Given the description of an element on the screen output the (x, y) to click on. 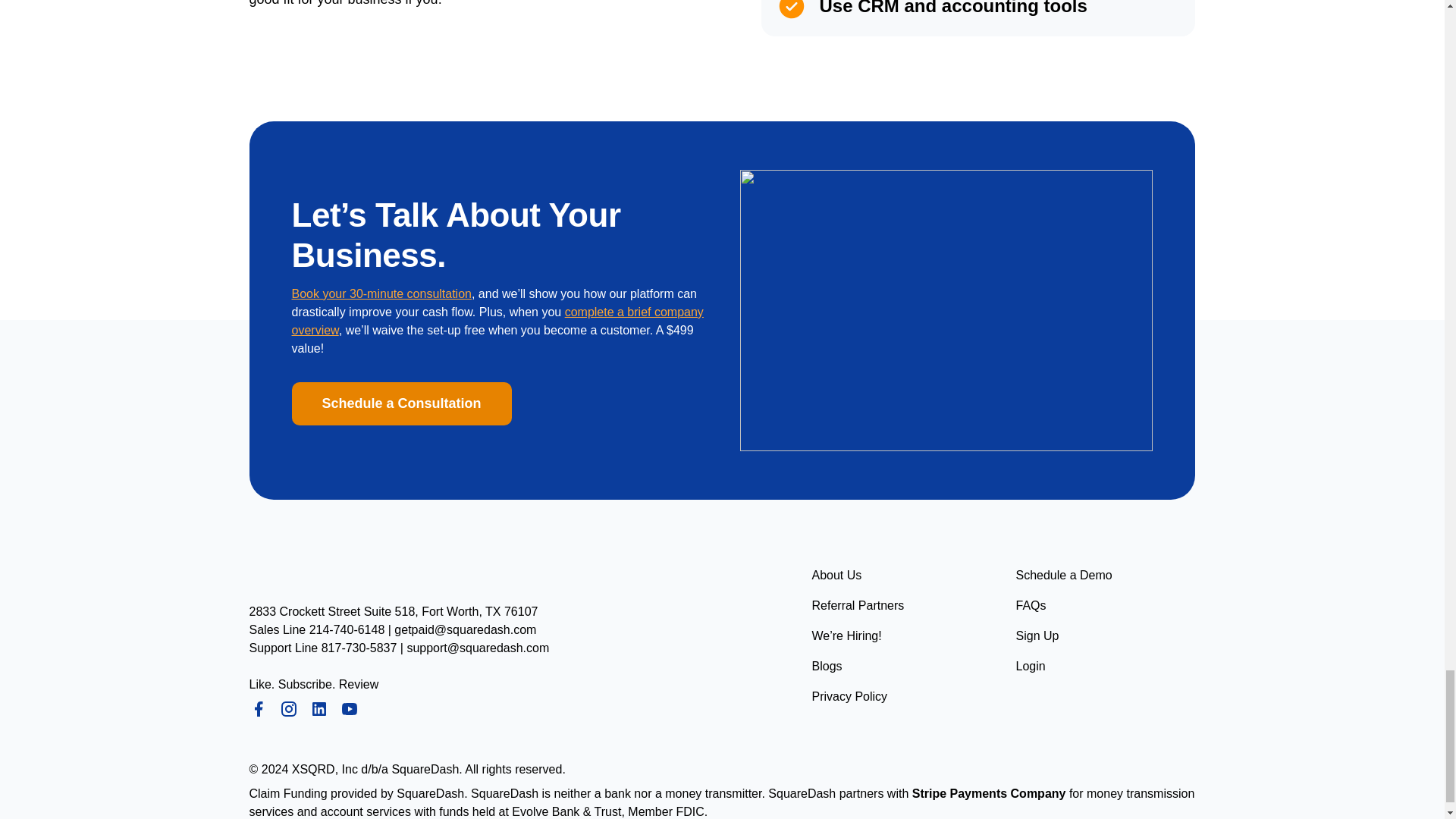
FAQs (1031, 606)
Login (1030, 666)
Schedule a Demo (1064, 575)
complete a brief company overview (497, 320)
Blogs (825, 666)
Privacy Policy (848, 696)
214-740-6148 (346, 629)
Schedule a Consultation (401, 403)
Referral Partners (857, 606)
Book your 30-minute consultation (380, 293)
Sign Up (1037, 636)
About Us (835, 575)
817-730-583 (355, 647)
